Given the description of an element on the screen output the (x, y) to click on. 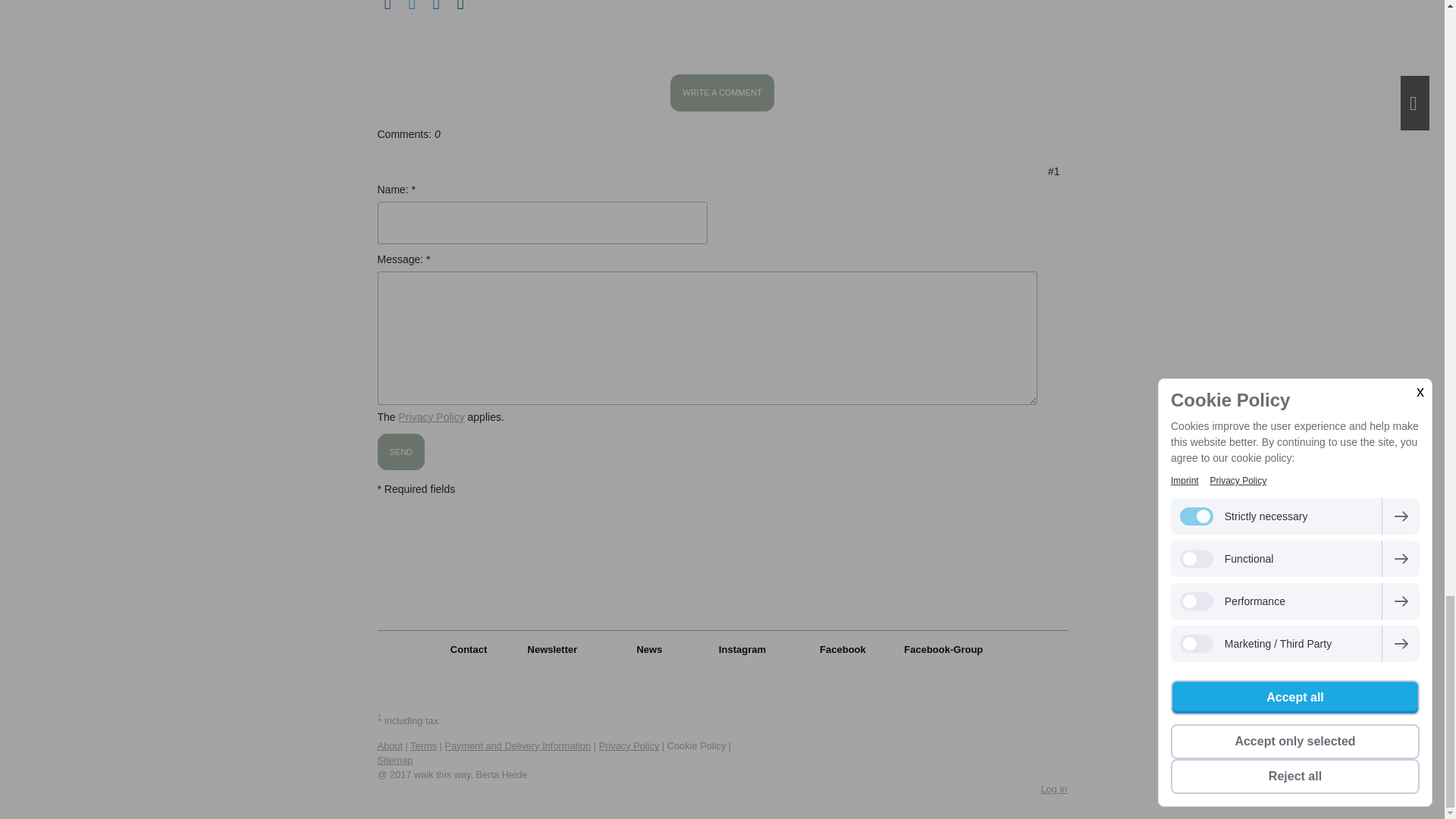
Get daily Berlin recommendations on Instagram (742, 649)
Get daily Berlin recommendations on Facebook (842, 649)
See more Berlin recommendations (649, 649)
Twitter (412, 6)
Facebook (387, 6)
Write me (467, 649)
Subscribe for the monthly BertaNews (552, 649)
Xing (460, 6)
LinkedIn (436, 6)
send (401, 452)
